Given the description of an element on the screen output the (x, y) to click on. 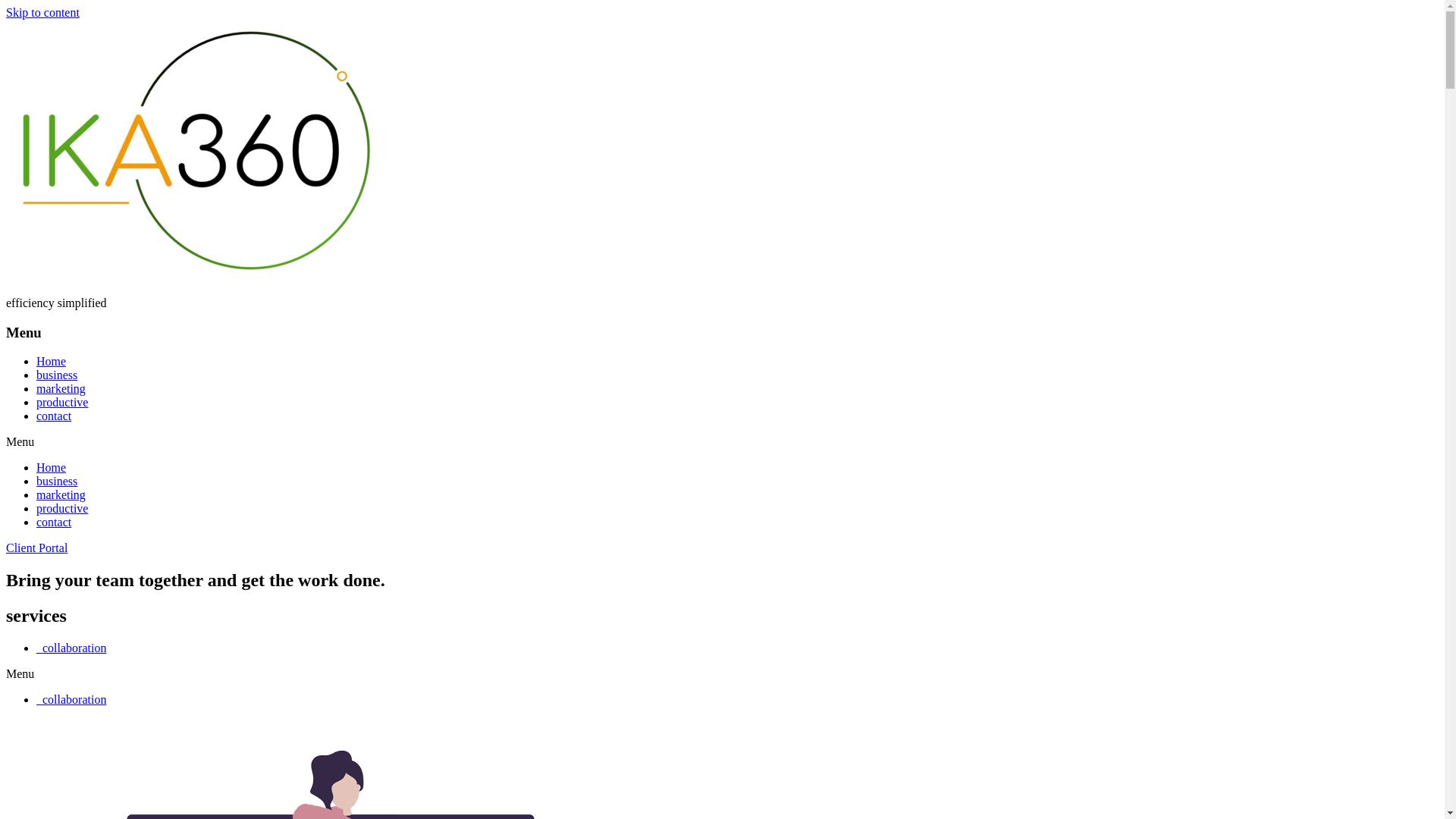
marketing Element type: text (60, 494)
  collaboration Element type: text (71, 647)
productive Element type: text (61, 401)
Home Element type: text (50, 360)
business Element type: text (56, 374)
business Element type: text (56, 480)
contact Element type: text (53, 415)
contact Element type: text (53, 521)
Client Portal Element type: text (36, 547)
  collaboration Element type: text (71, 699)
Home Element type: text (50, 467)
productive Element type: text (61, 508)
Skip to content Element type: text (42, 12)
marketing Element type: text (60, 388)
